Given the description of an element on the screen output the (x, y) to click on. 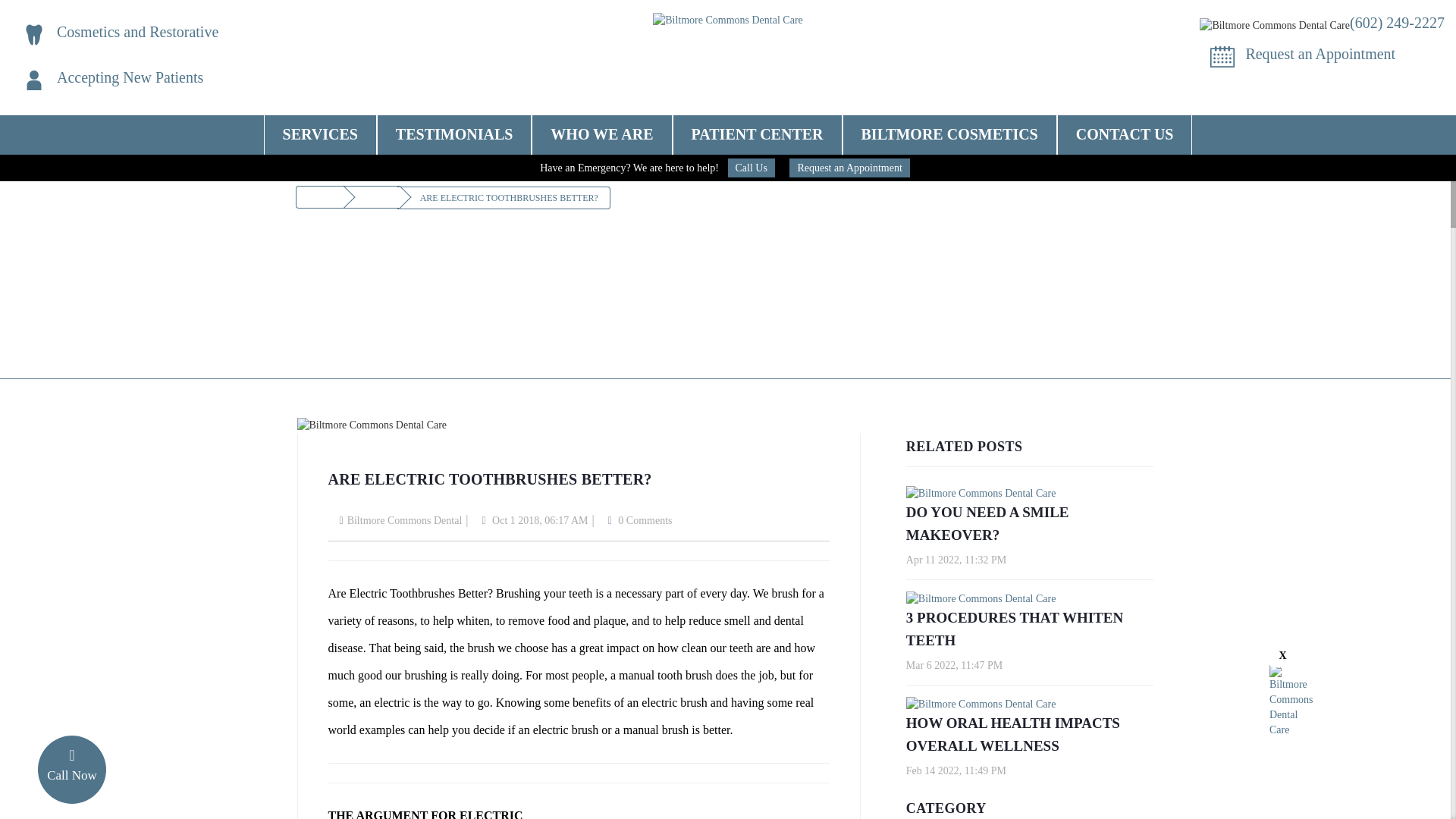
Biltmore Commons Dental Care image (33, 80)
Biltmore Commons Dental Care link (137, 31)
Biltmore Commons Dental Care link (1396, 22)
Biltmore Commons Dental Care link (727, 19)
Biltmore Commons Dental Care image (1274, 25)
WHO WE ARE (601, 130)
CONTACT US (1125, 133)
Biltmore Commons Dental Care link (1319, 53)
Biltmore Commons Dental Care link (319, 133)
Call Us (751, 167)
